Given the description of an element on the screen output the (x, y) to click on. 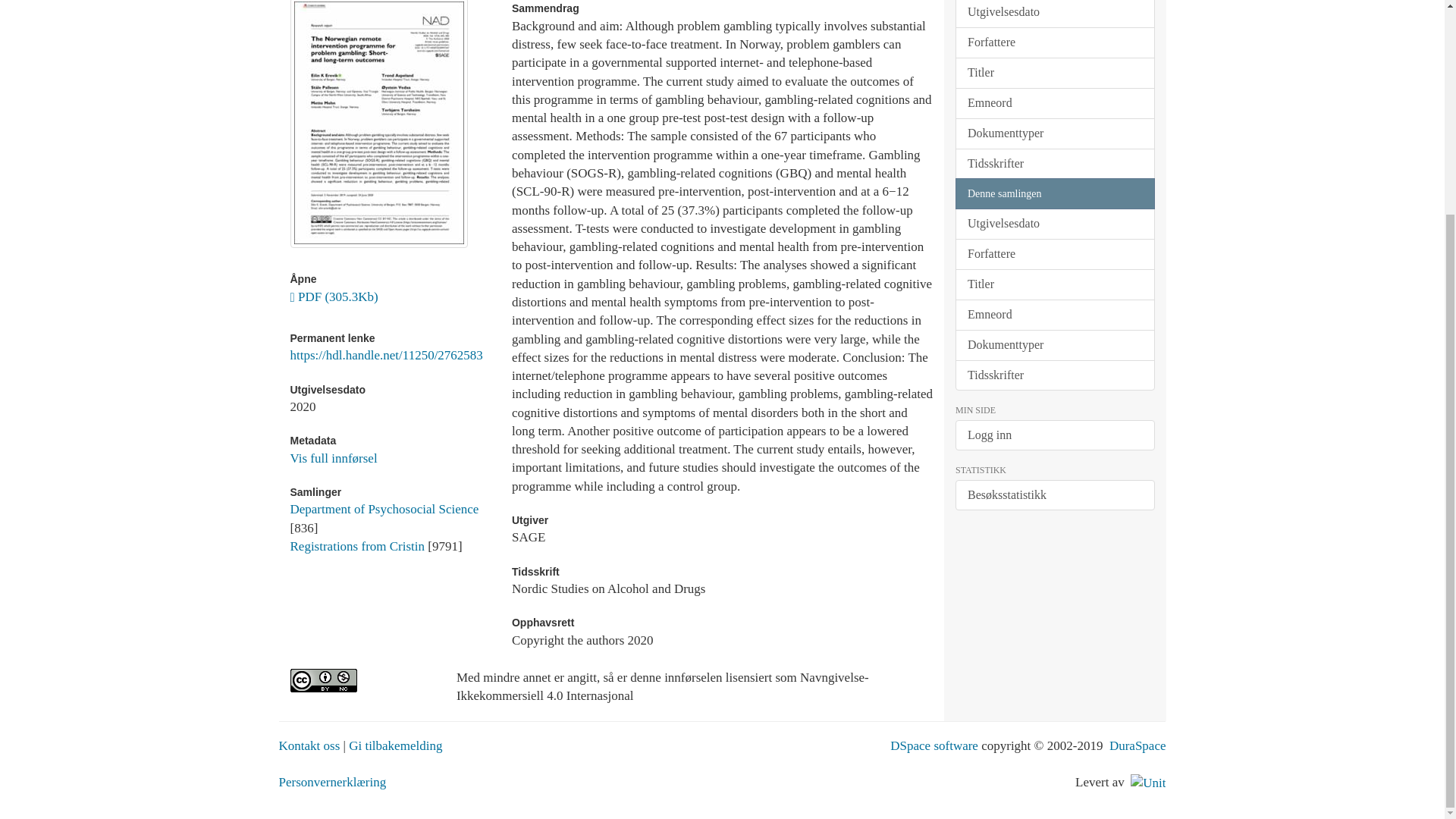
Department of Psychosocial Science (384, 509)
Navngivelse-Ikkekommersiell 4.0 Internasjonal (360, 680)
Unit (1148, 781)
Registrations from Cristin (357, 545)
